Given the description of an element on the screen output the (x, y) to click on. 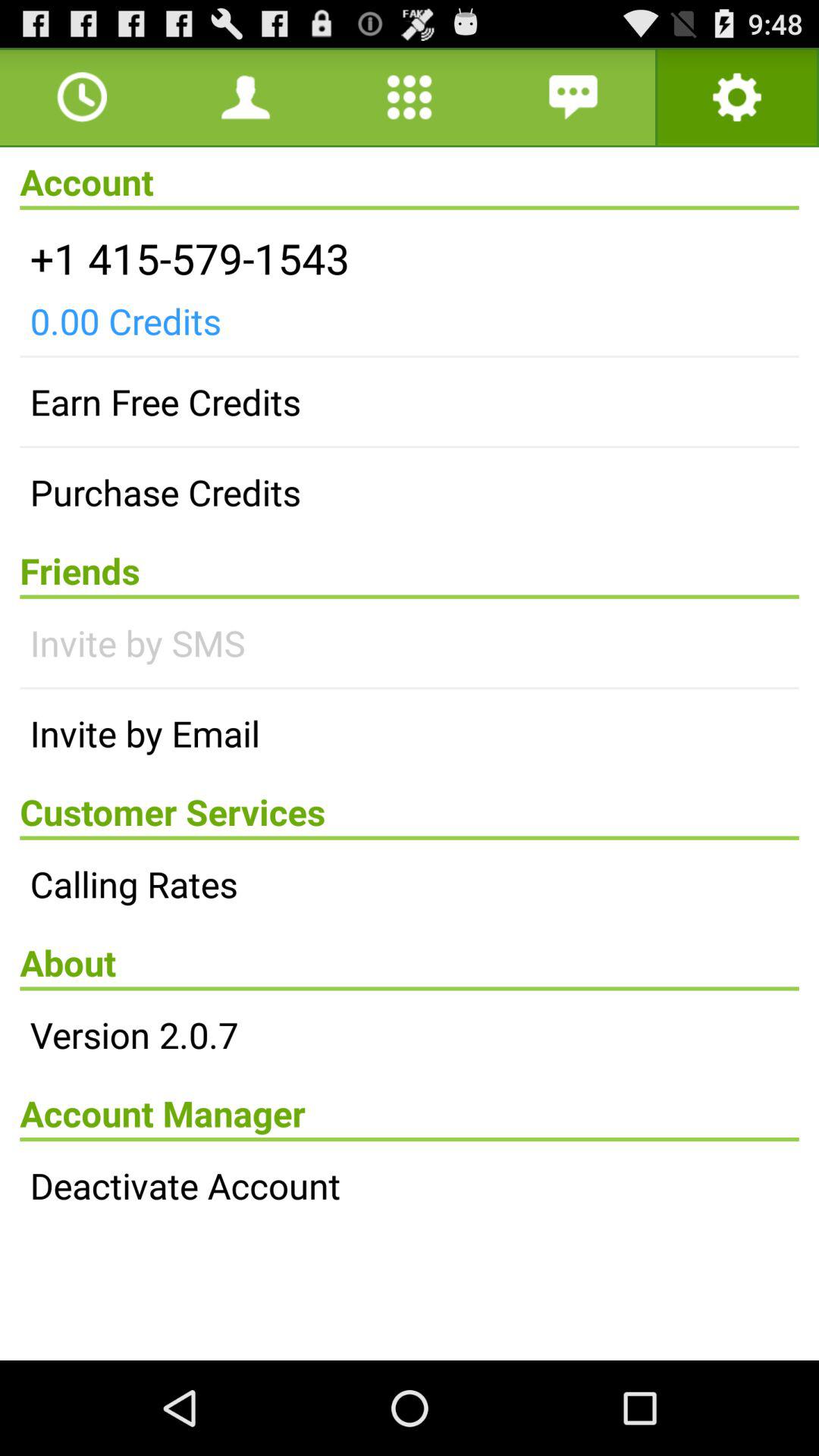
swipe to calling rates icon (409, 884)
